Given the description of an element on the screen output the (x, y) to click on. 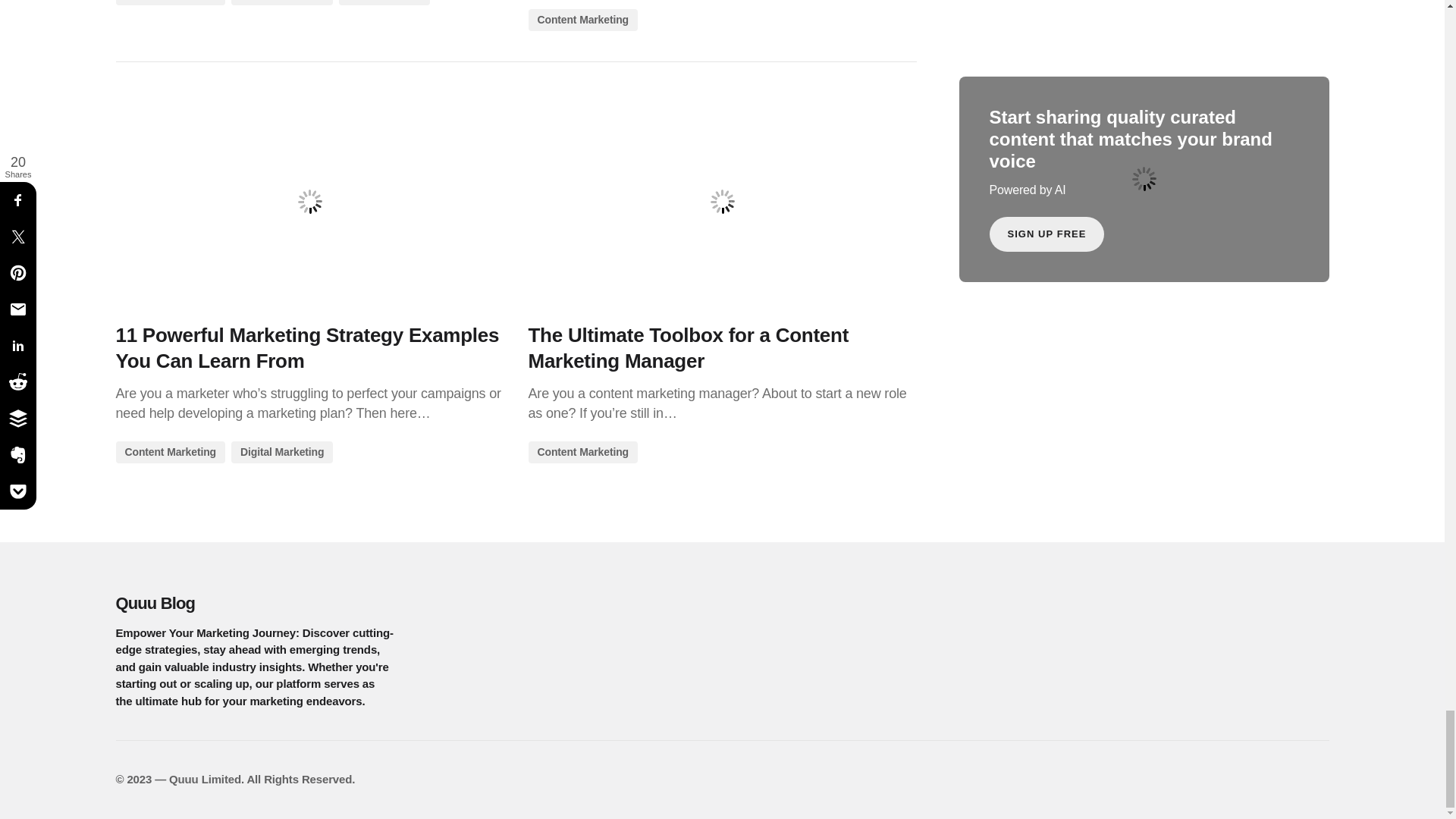
The Ultimate Toolbox for a Content Marketing Manager (721, 201)
11 Powerful Marketing Strategy Examples You Can Learn From (309, 201)
